Given the description of an element on the screen output the (x, y) to click on. 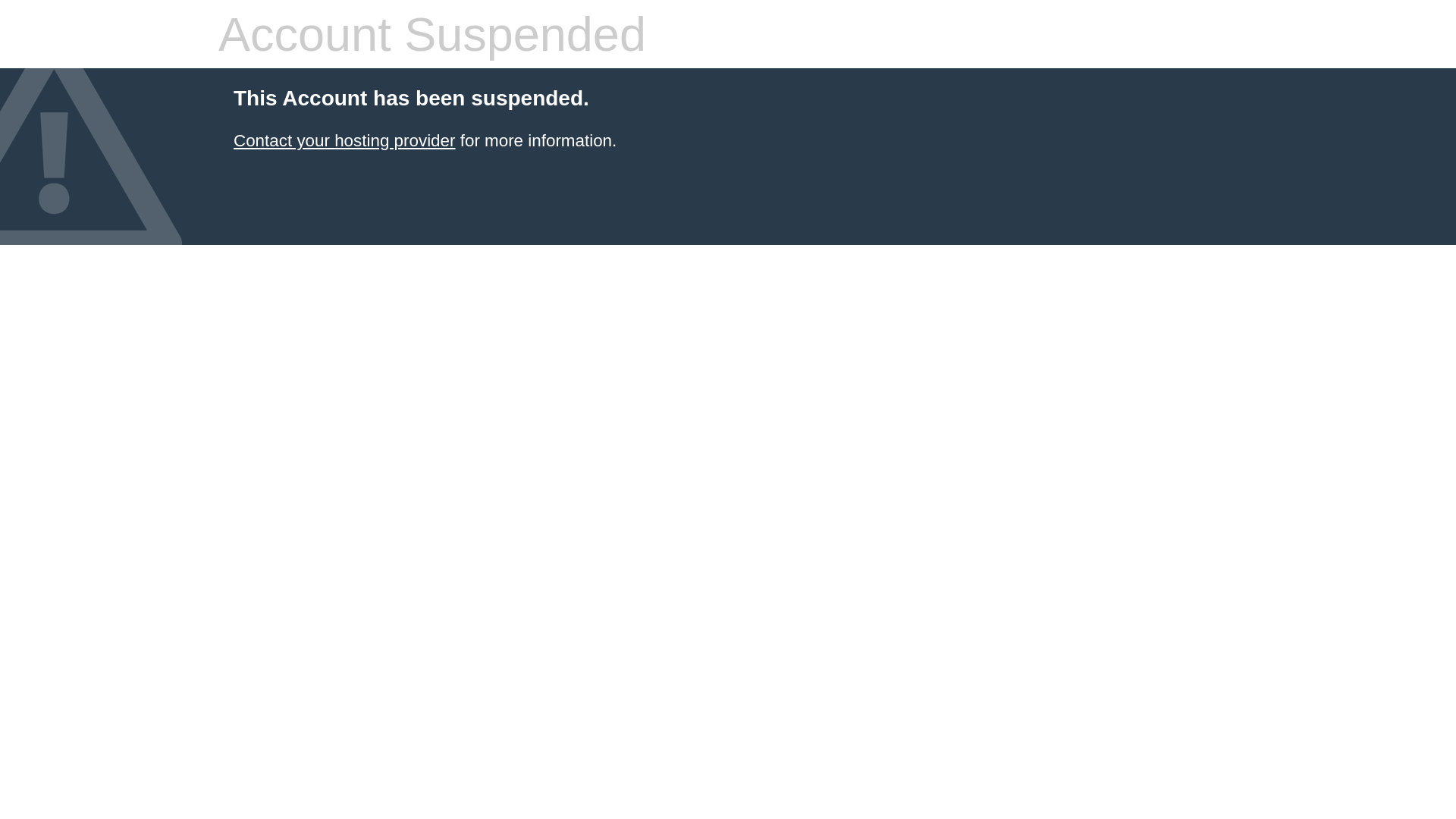
Contact your hosting provider Element type: text (344, 140)
